Given the description of an element on the screen output the (x, y) to click on. 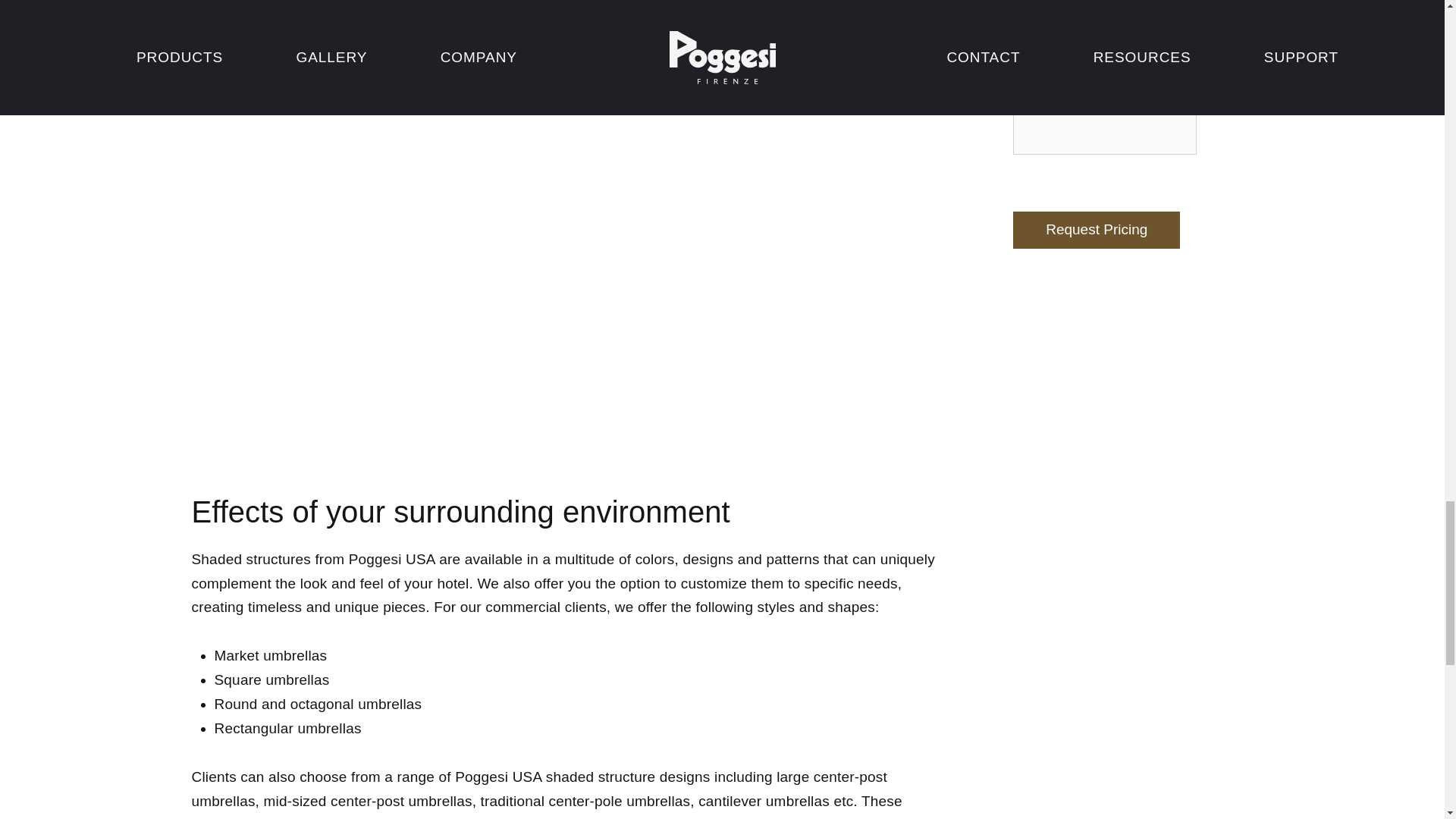
Request Pricing (1096, 229)
